Given the description of an element on the screen output the (x, y) to click on. 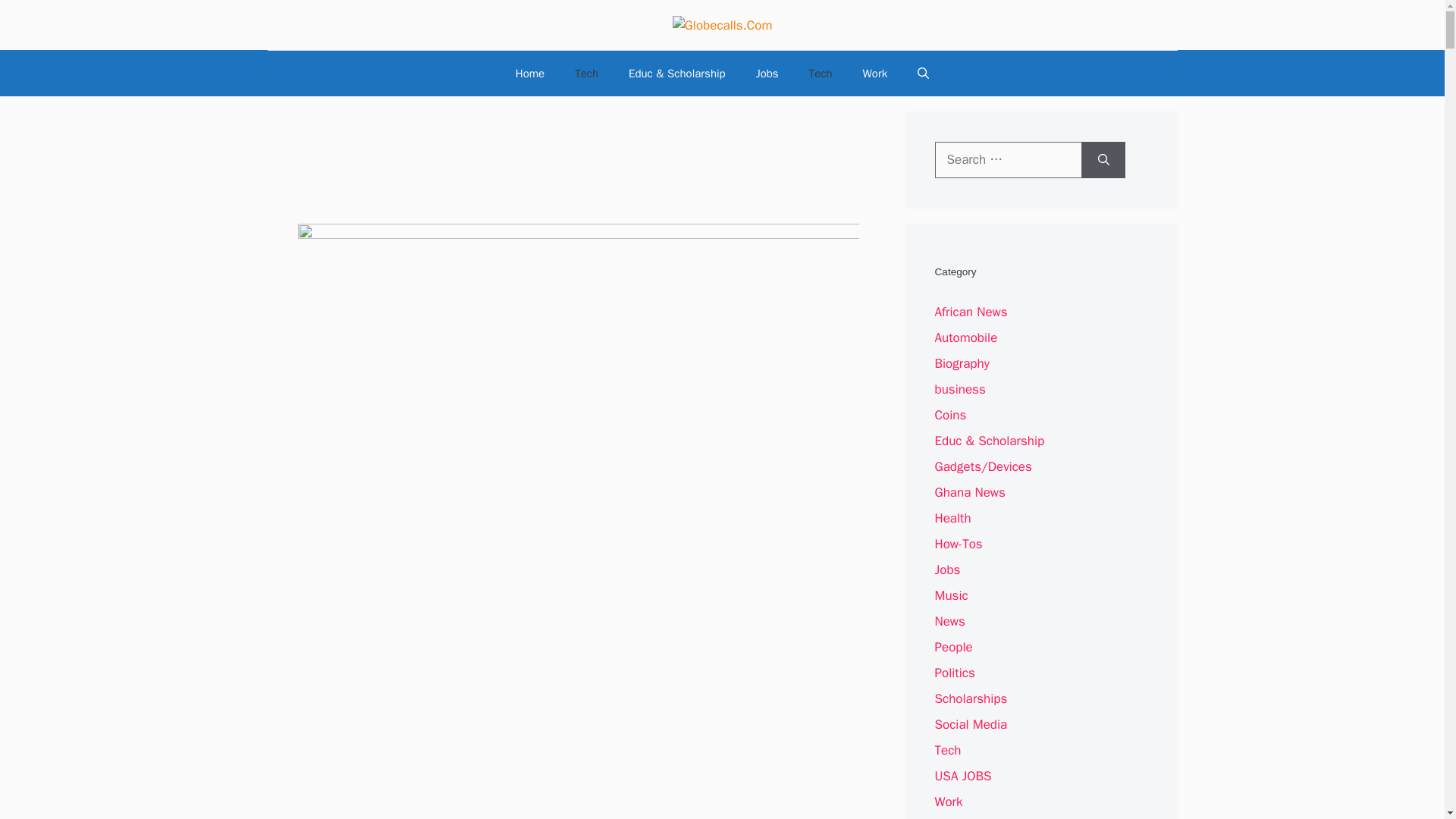
Work (874, 73)
business (959, 389)
Jobs (767, 73)
African News (970, 311)
News (948, 621)
Tech (585, 73)
Search for: (1007, 159)
Tech (820, 73)
Coins (950, 415)
Biography (961, 363)
Scholarships (970, 698)
Social Media (970, 724)
People (953, 647)
Music (951, 595)
Health (952, 518)
